Given the description of an element on the screen output the (x, y) to click on. 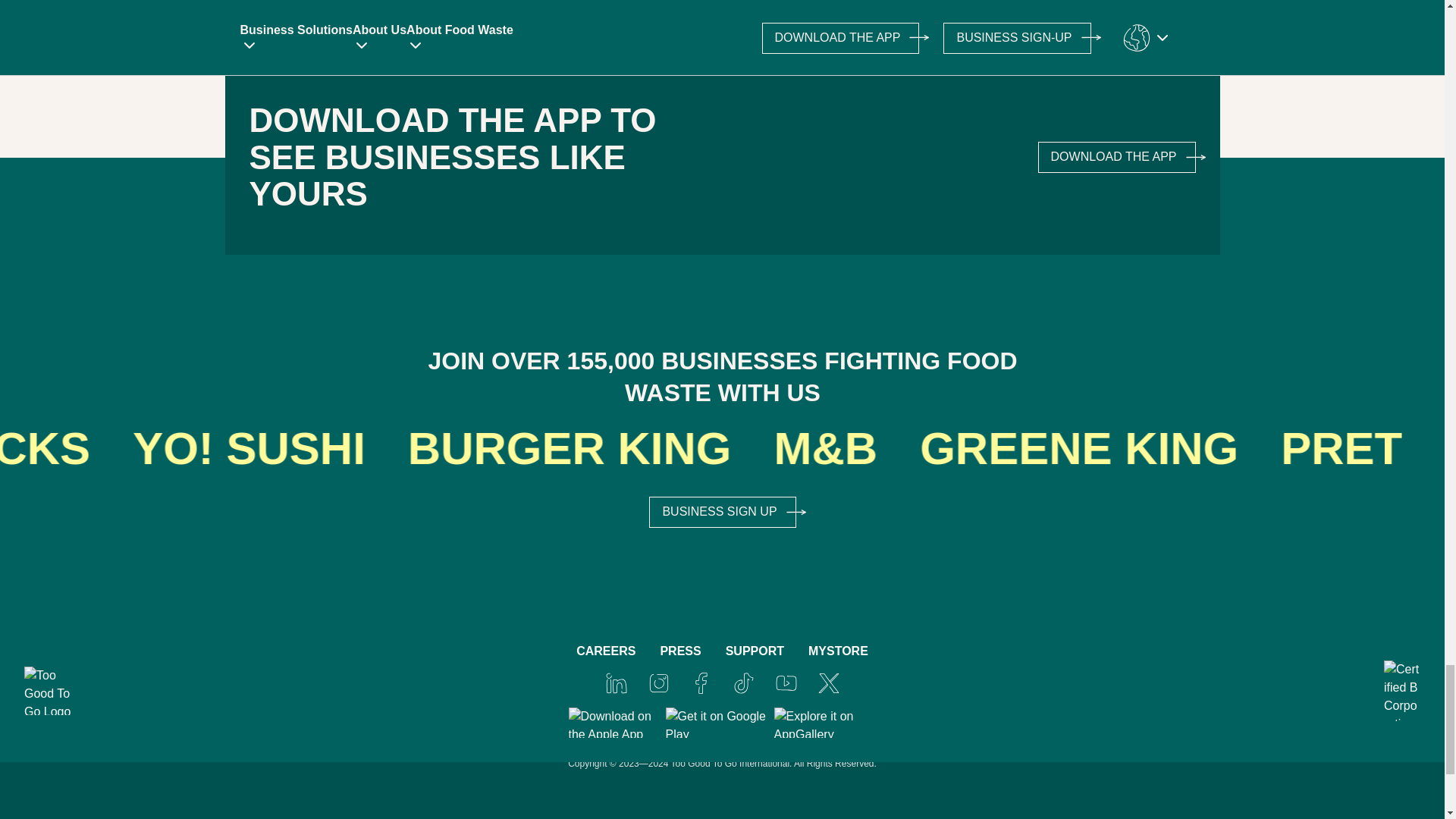
Support (754, 651)
Mystore (837, 651)
Careers (605, 651)
BUSINESS SIGN UP (721, 512)
Press (679, 651)
